Given the description of an element on the screen output the (x, y) to click on. 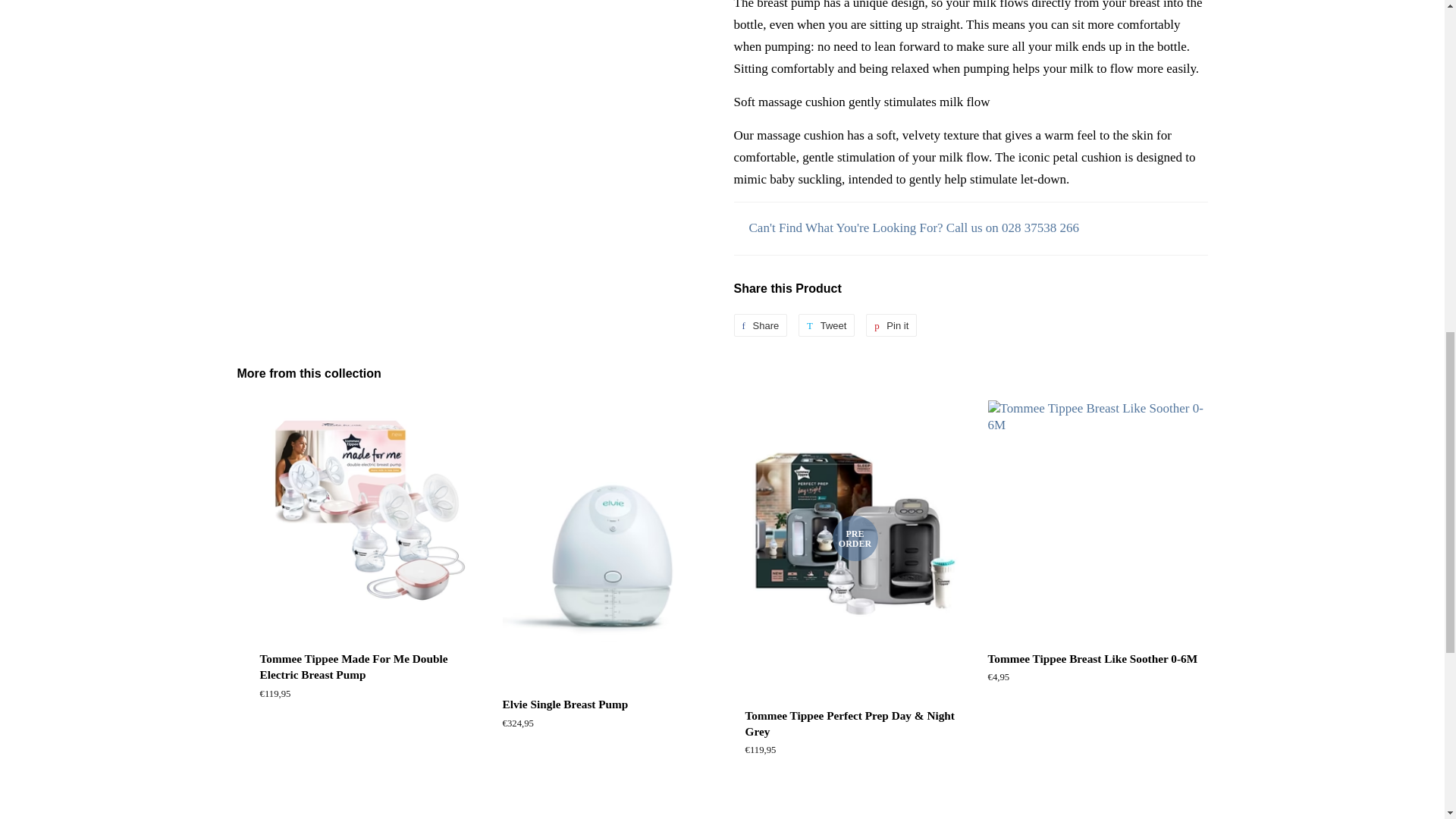
Pin on Pinterest (879, 324)
Share on Facebook (758, 324)
Tweet on Twitter (819, 324)
